Given the description of an element on the screen output the (x, y) to click on. 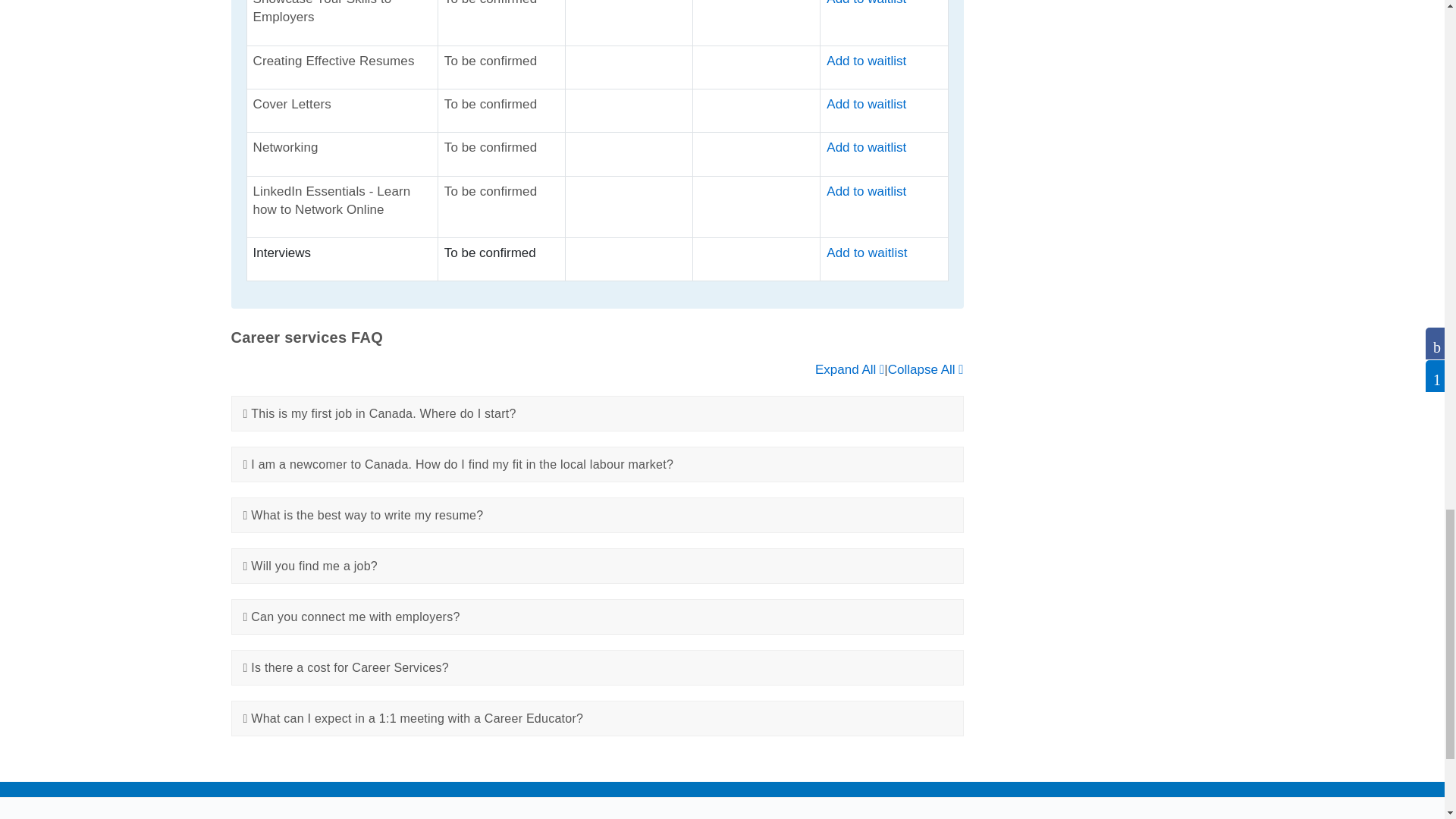
Creating Effective Resumes (868, 60)
Cover Letters (868, 104)
Showcase Your Skills to Employers (868, 2)
Interviews (867, 252)
LinkedIn Essentials (868, 191)
Networking (866, 147)
